Given the description of an element on the screen output the (x, y) to click on. 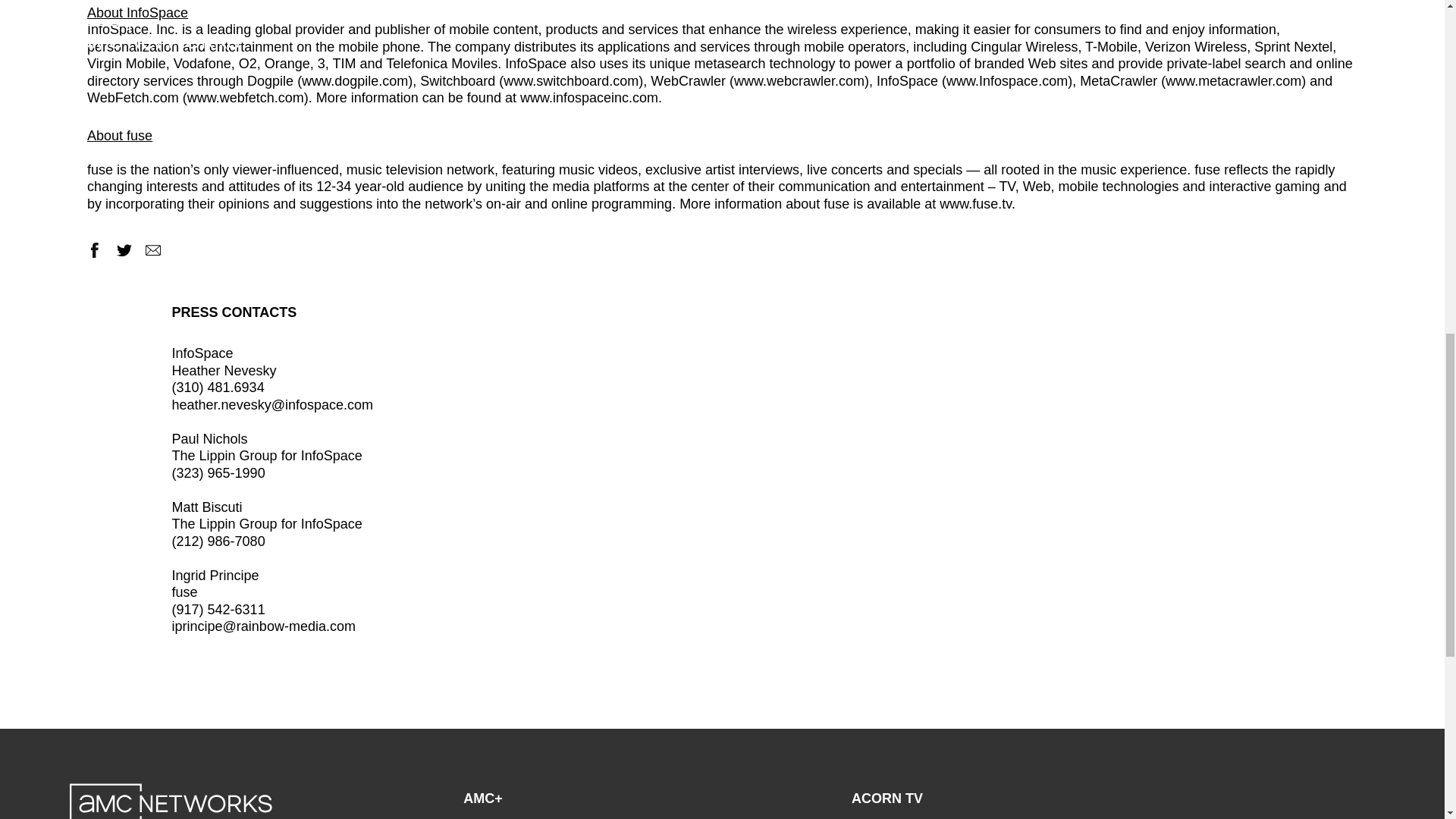
www.infospaceinc.com (588, 97)
www.fuse.tv (975, 203)
ACORN TV (887, 798)
AMC Networks (170, 800)
